Given the description of an element on the screen output the (x, y) to click on. 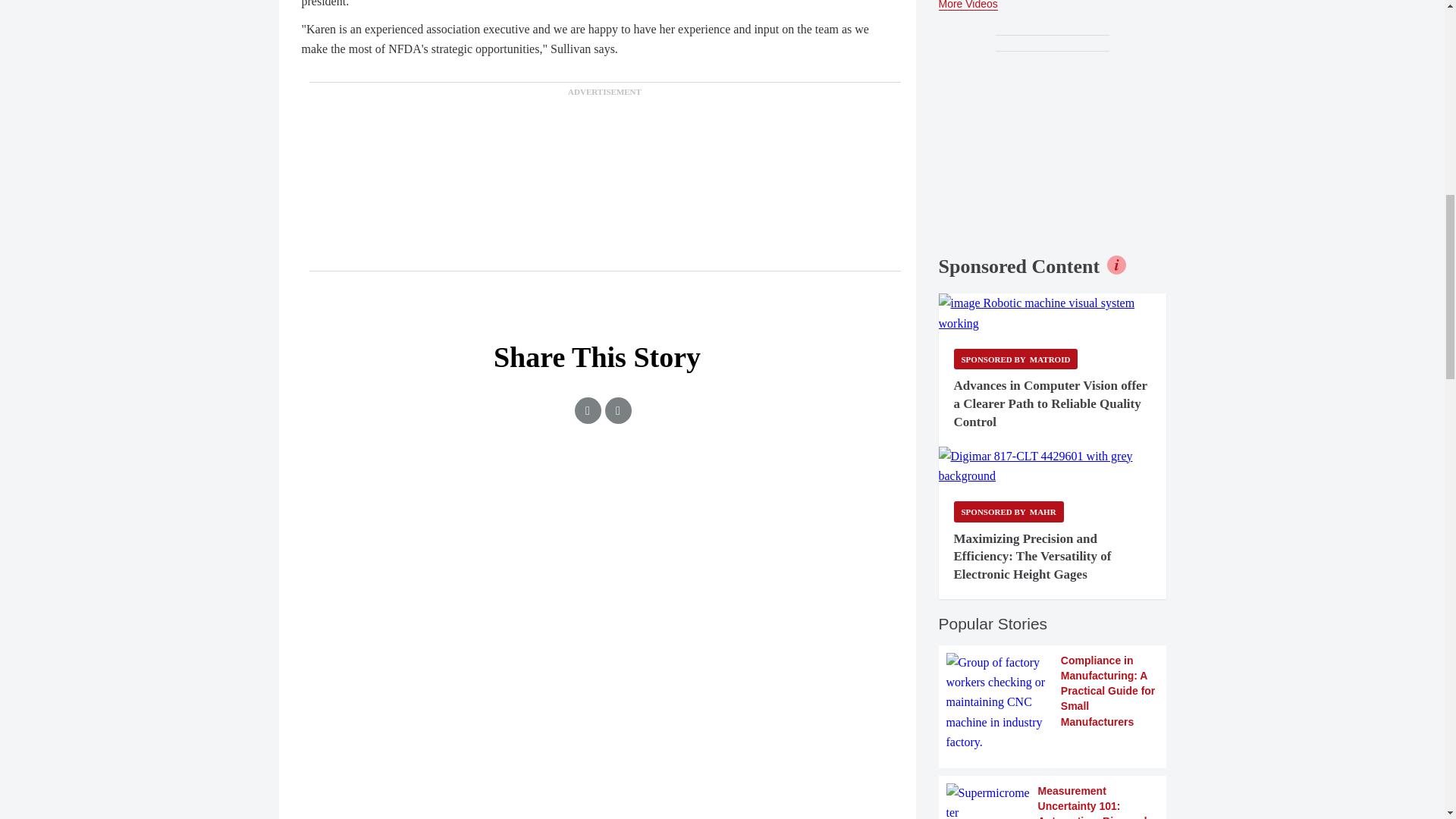
Sponsored by Mahr (1008, 511)
Digimar 817-CLT 4429601 with grey background (1052, 466)
Robotic machine visual system working (1052, 313)
Sponsored by Matroid (1015, 358)
